Given the description of an element on the screen output the (x, y) to click on. 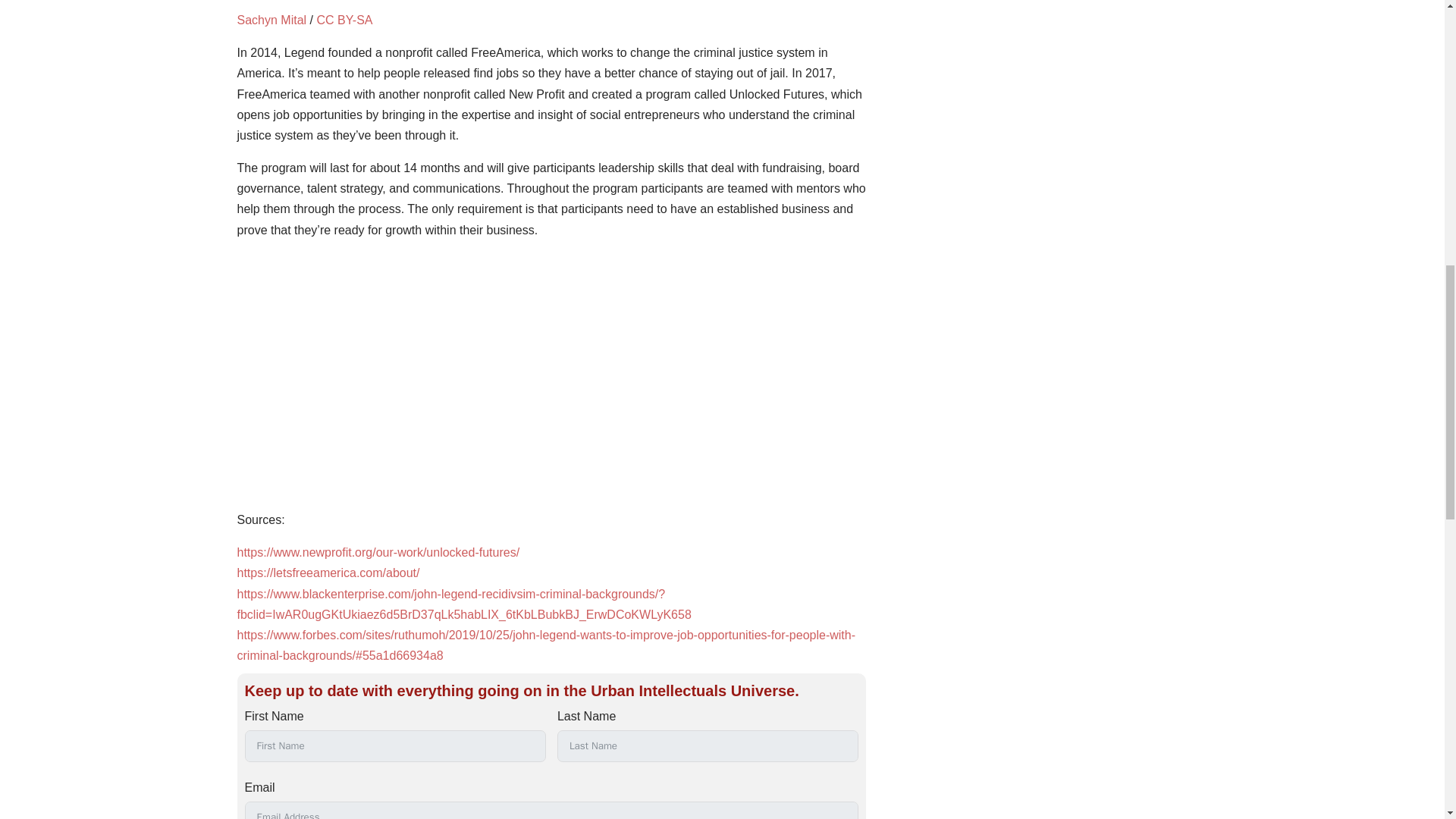
via Wikimedia Commons (270, 19)
